Given the description of an element on the screen output the (x, y) to click on. 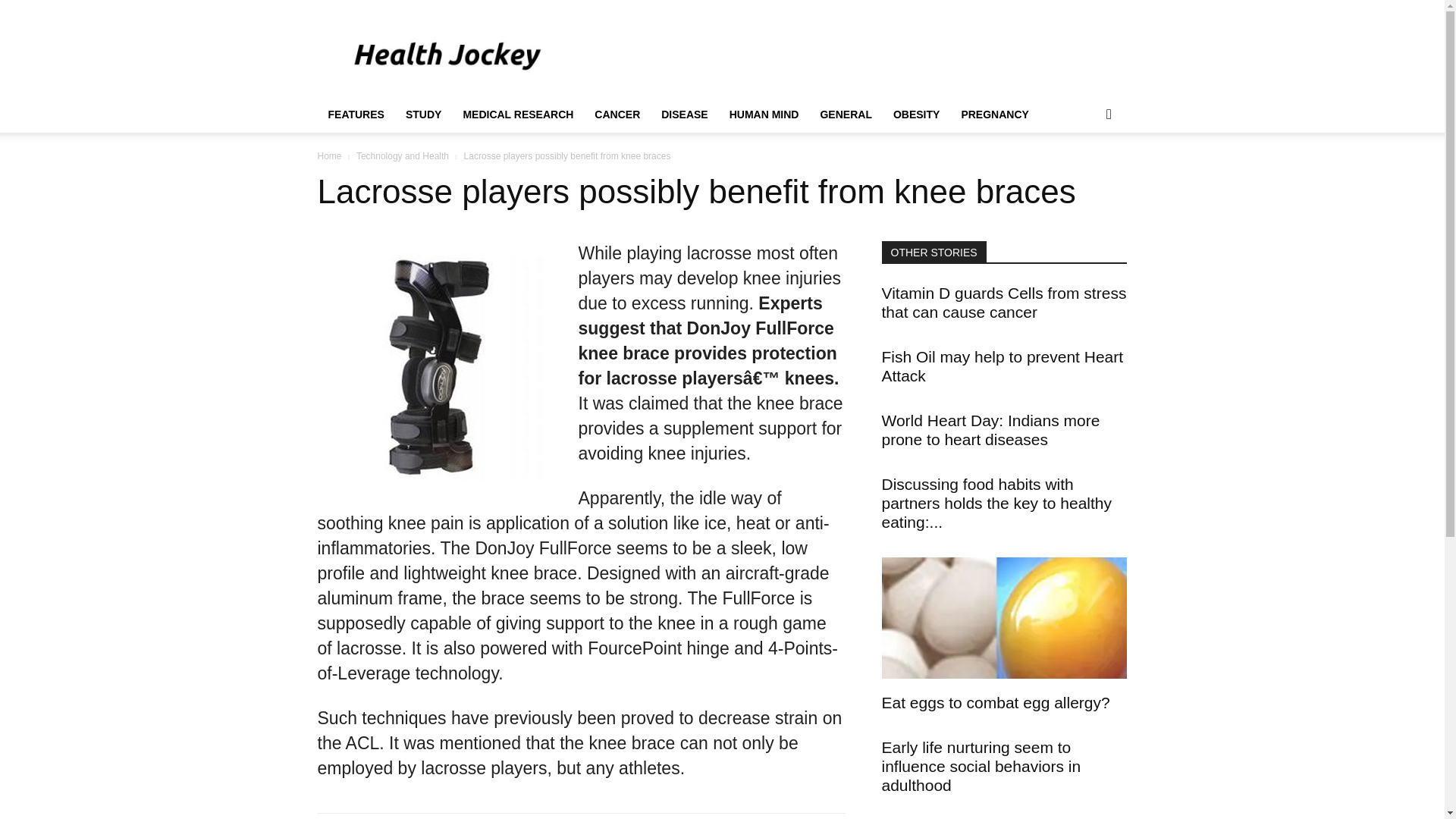
Fish Oil may help to prevent Heart Attack (1001, 366)
PREGNANCY (994, 114)
Technology and Health (402, 155)
Home (328, 155)
Eat eggs to combat egg allergy? (994, 702)
OBESITY (916, 114)
GENERAL (845, 114)
World Heart Day: Indians more prone to heart diseases (989, 429)
